Given the description of an element on the screen output the (x, y) to click on. 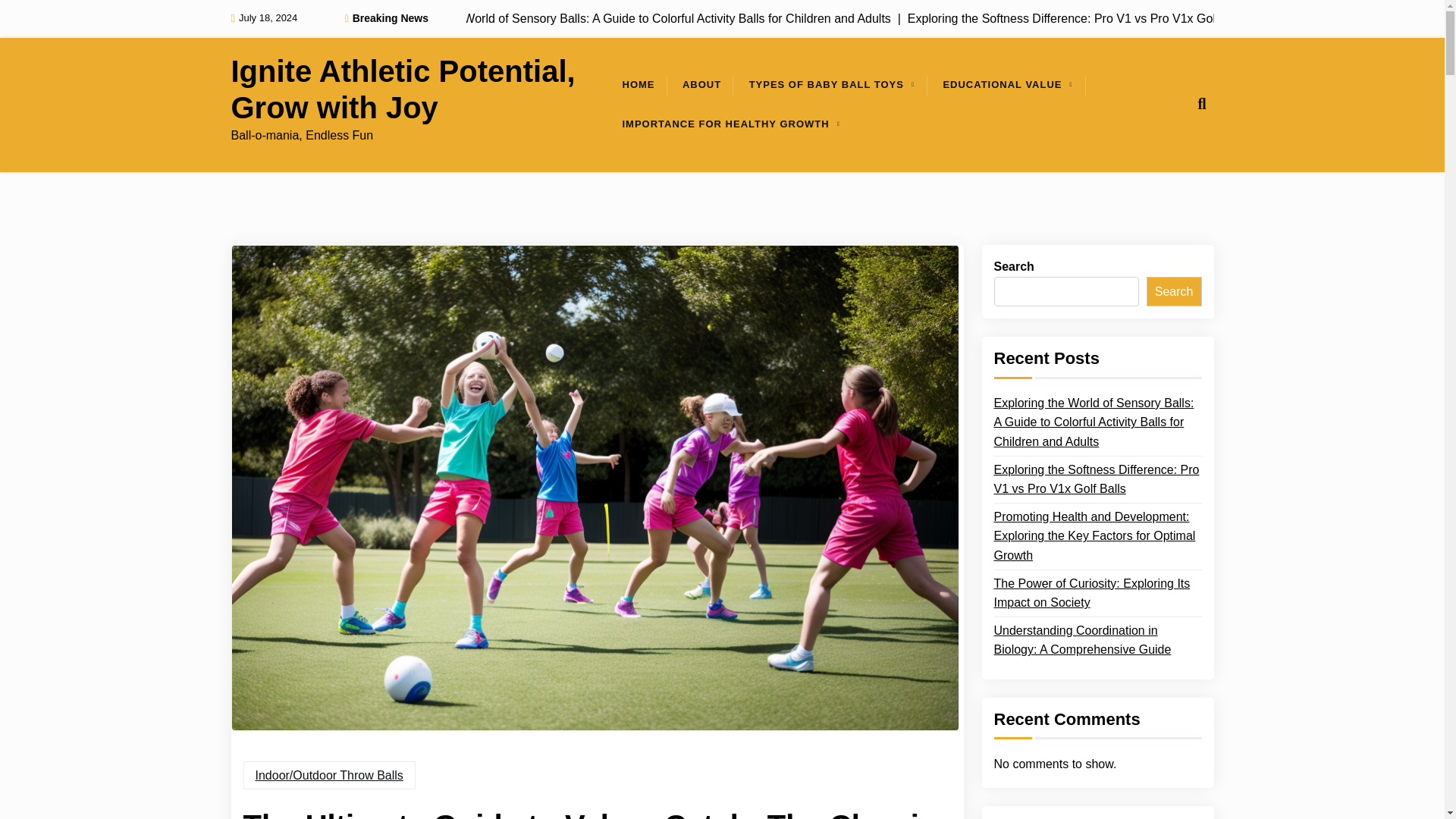
EDUCATIONAL VALUE (1002, 85)
IMPORTANCE FOR HEALTHY GROWTH (725, 124)
ABOUT (701, 85)
Ignite Athletic Potential, Grow with Joy (420, 89)
TYPES OF BABY BALL TOYS (825, 85)
HOME (638, 85)
